Given the description of an element on the screen output the (x, y) to click on. 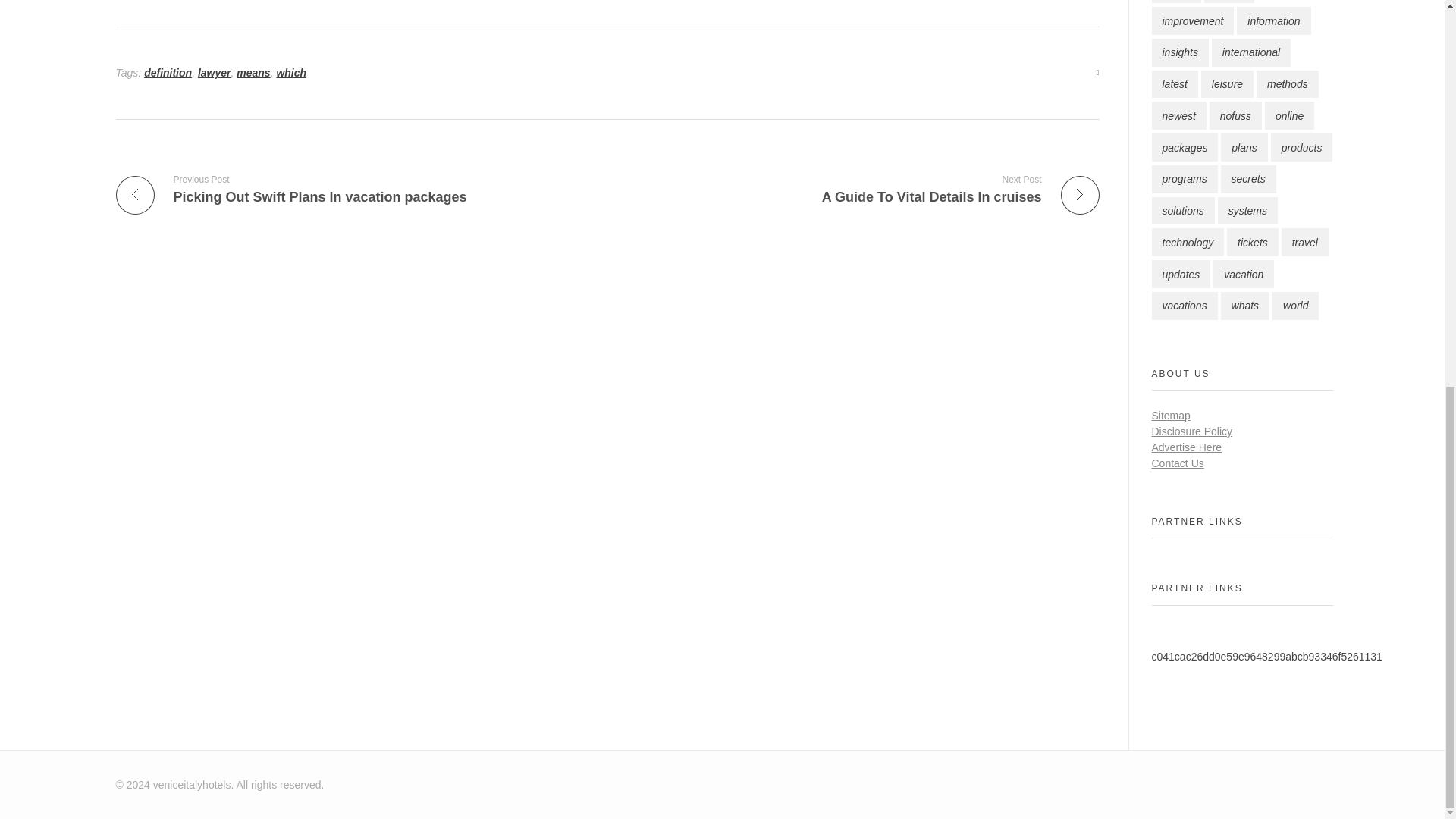
which (290, 72)
lawyer (214, 72)
definition (168, 72)
means (252, 72)
